Given the description of an element on the screen output the (x, y) to click on. 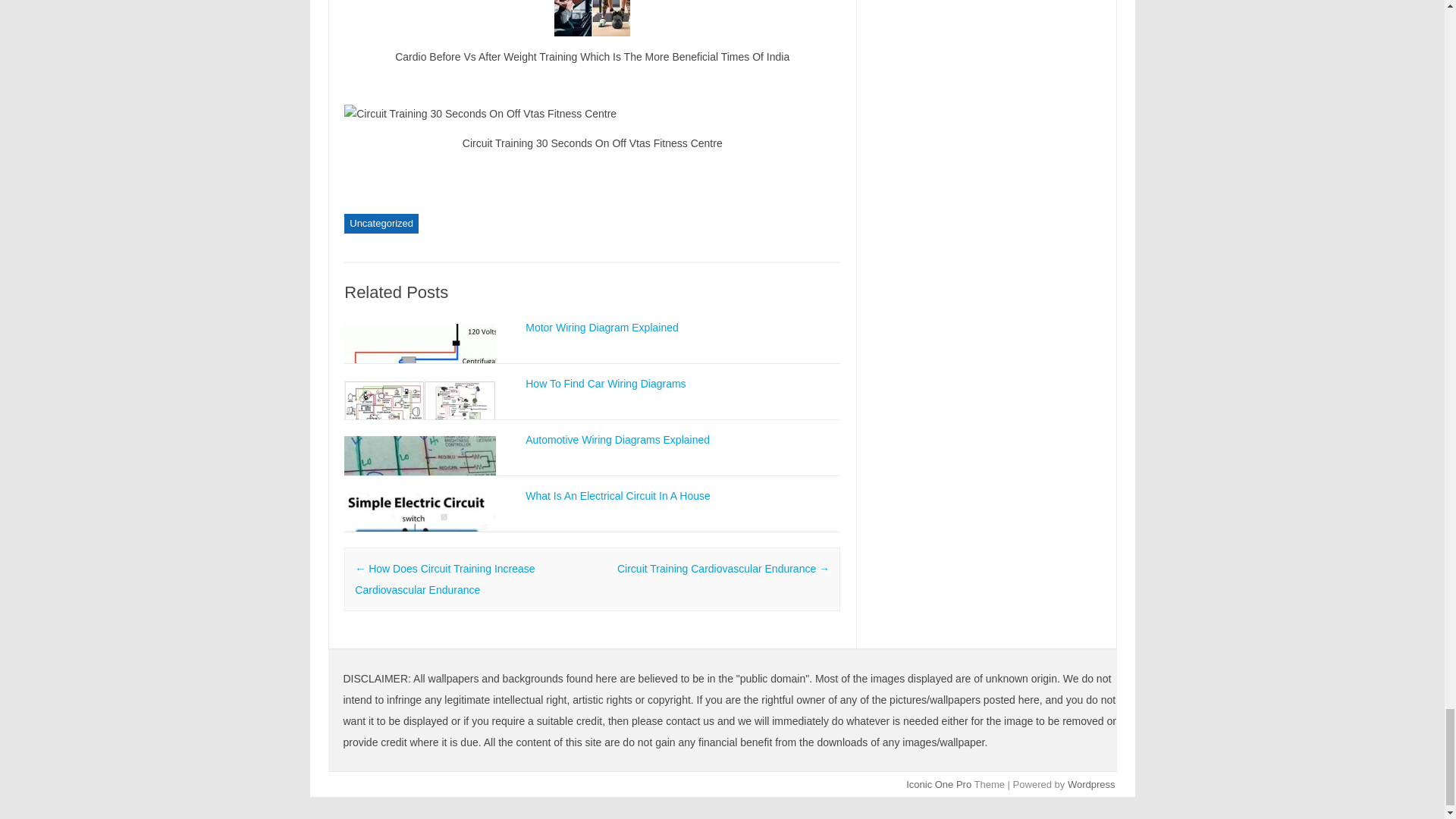
Automotive Wiring Diagrams Explained (617, 439)
Uncategorized (381, 223)
What Is An Electrical Circuit In A House (617, 495)
How To Find Car Wiring Diagrams (605, 383)
Motor Wiring Diagram Explained (601, 327)
